Given the description of an element on the screen output the (x, y) to click on. 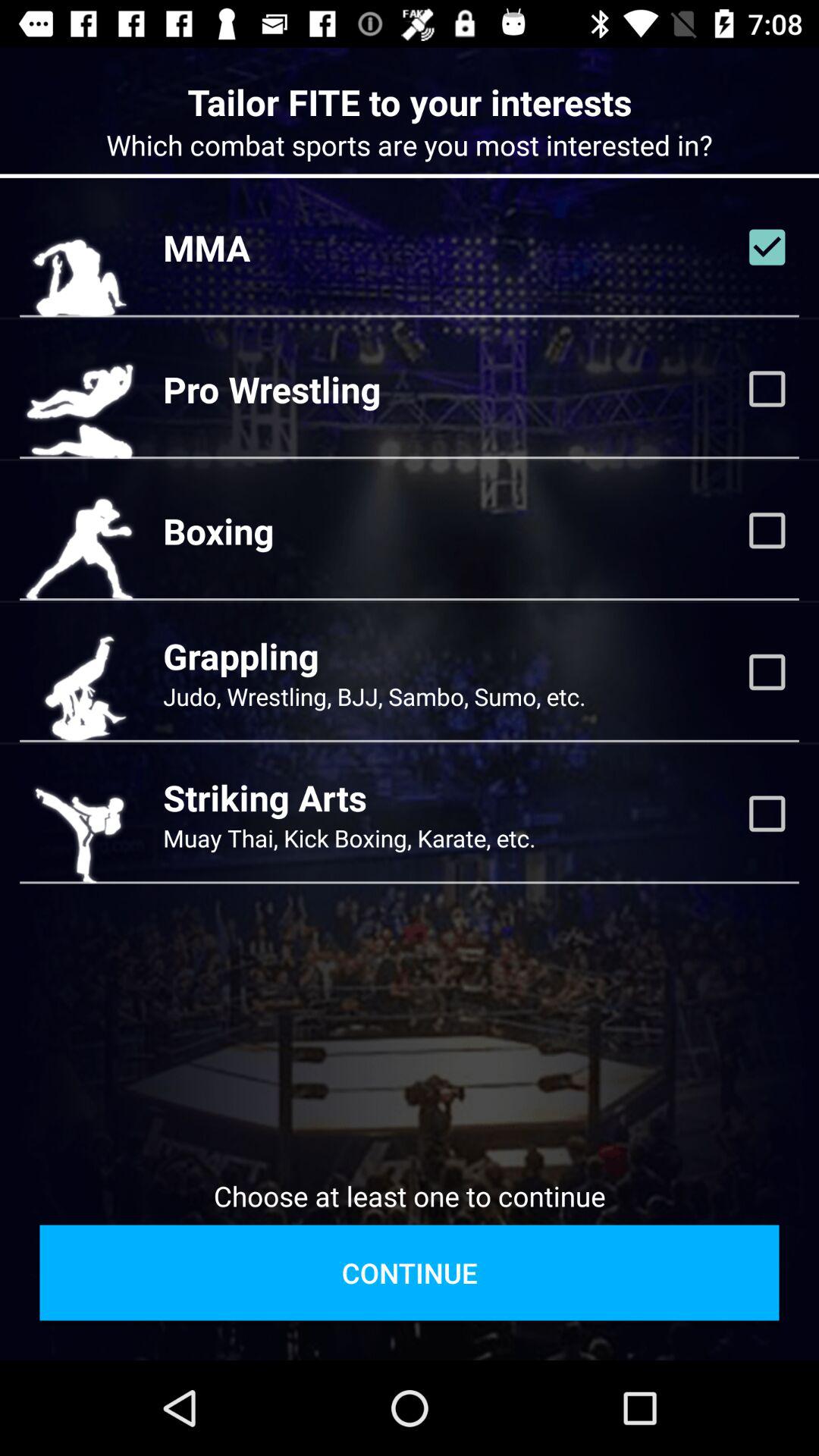
launch the item below grappling (374, 696)
